Given the description of an element on the screen output the (x, y) to click on. 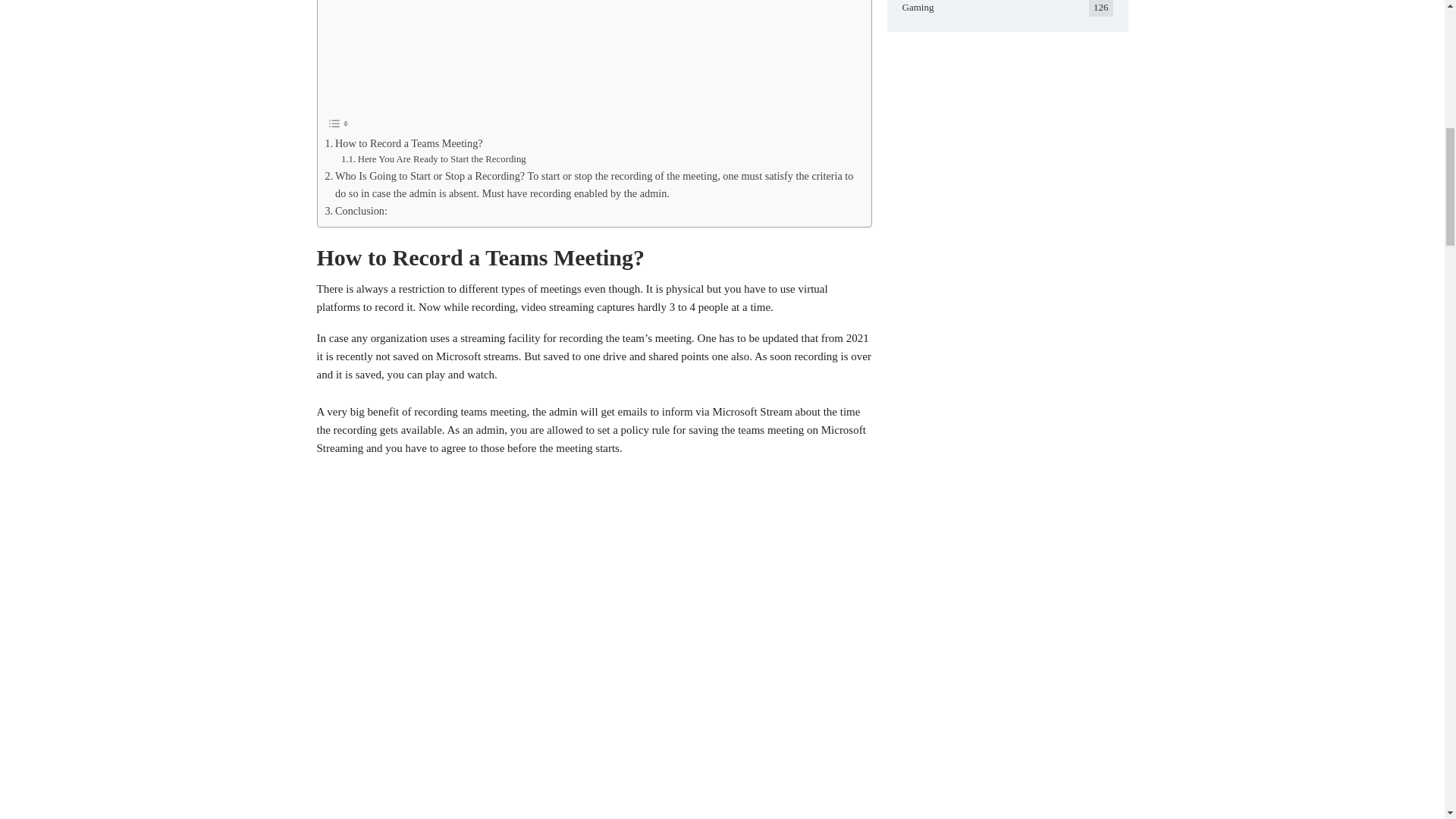
How to Record a Teams Meeting? (402, 143)
Here You Are Ready to Start the Recording (432, 159)
Conclusion: (355, 211)
Conclusion: (355, 211)
How to Record a Teams Meeting? (402, 143)
Advertisement (590, 53)
Here You Are Ready to Start the Recording (432, 159)
